Given the description of an element on the screen output the (x, y) to click on. 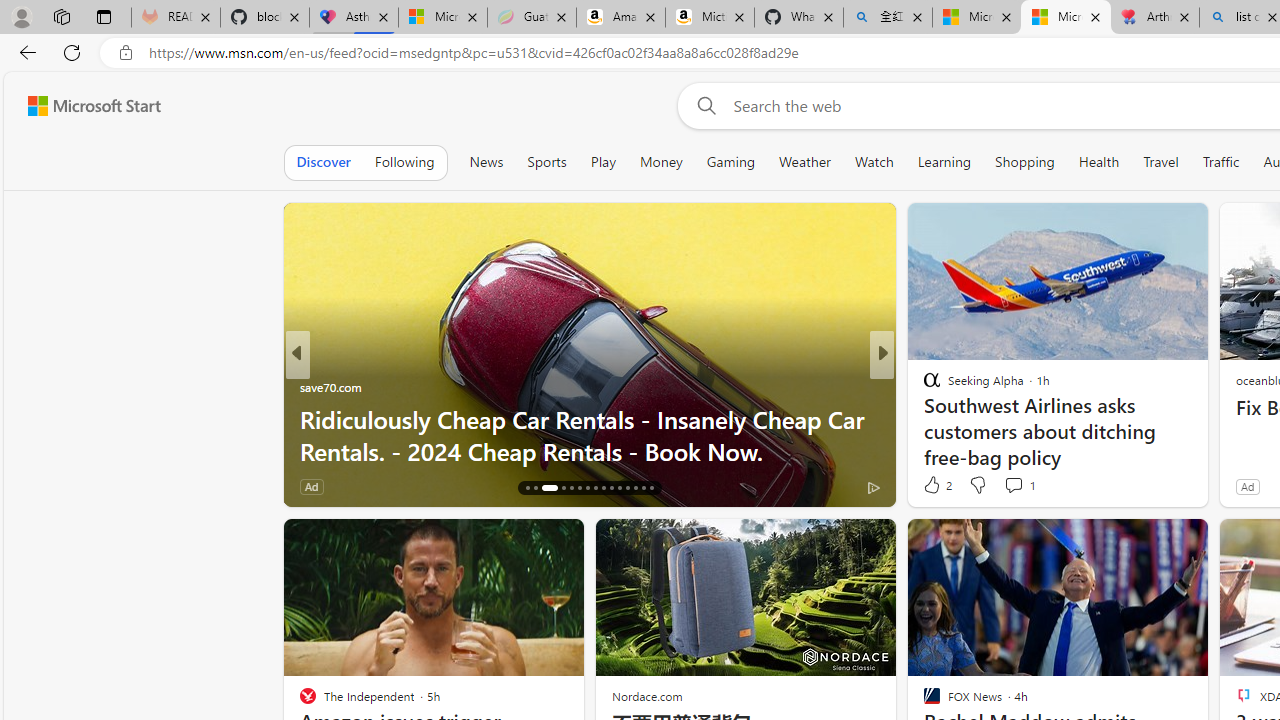
Watch (874, 161)
AutomationID: tab-23 (595, 487)
Shopping (1025, 162)
CNN (923, 386)
AutomationID: tab-18 (542, 487)
View comments 20 Comment (1019, 485)
2 Like (936, 484)
Learning (944, 161)
View comments 4 Comment (1019, 485)
119 Like (936, 486)
Workspaces (61, 16)
Asthma Inhalers: Names and Types (353, 17)
Discover (323, 162)
22 Like (934, 486)
